Given the description of an element on the screen output the (x, y) to click on. 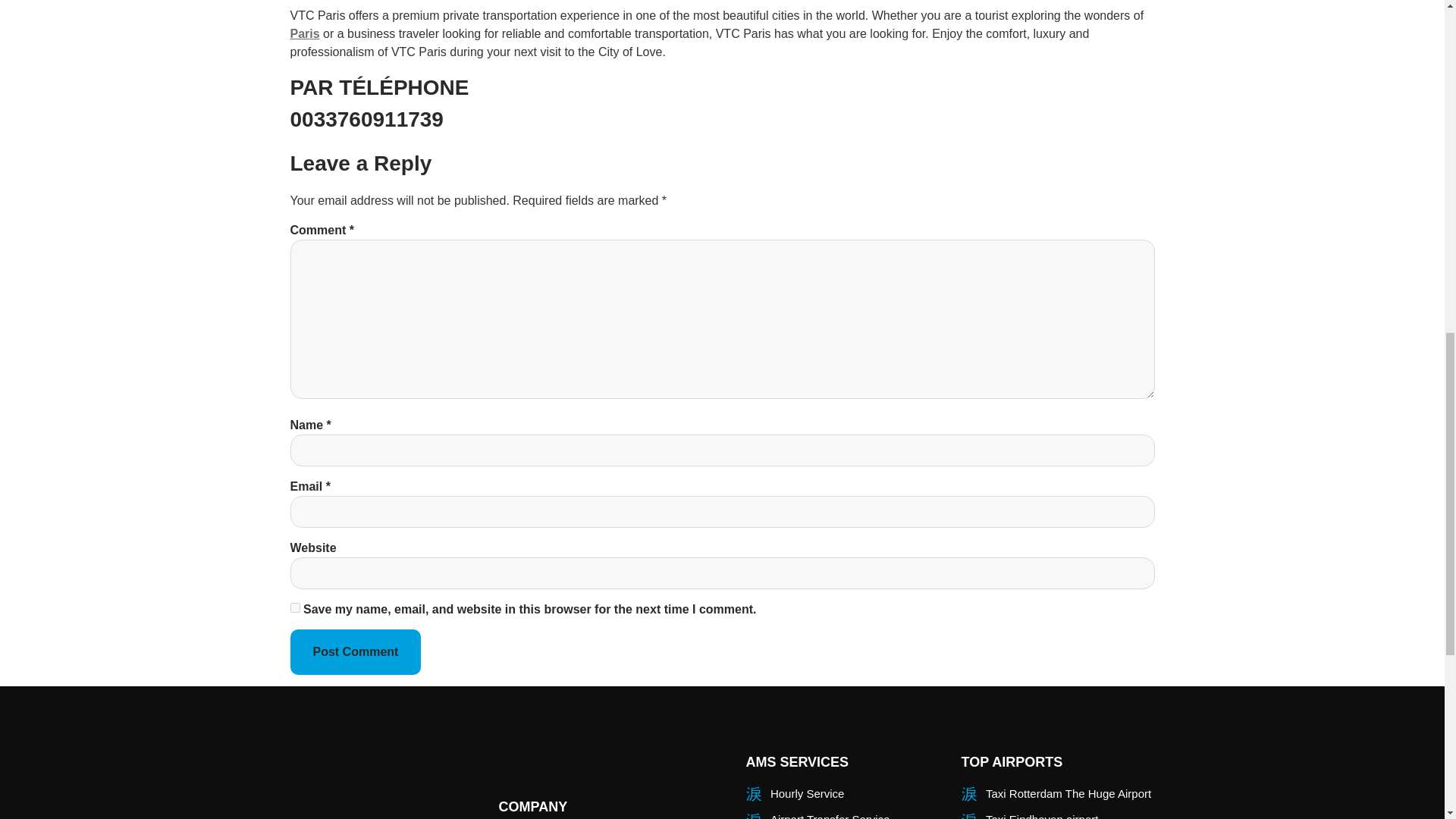
Post Comment (354, 651)
Paris (303, 33)
yes (294, 607)
Post Comment (354, 651)
